Given the description of an element on the screen output the (x, y) to click on. 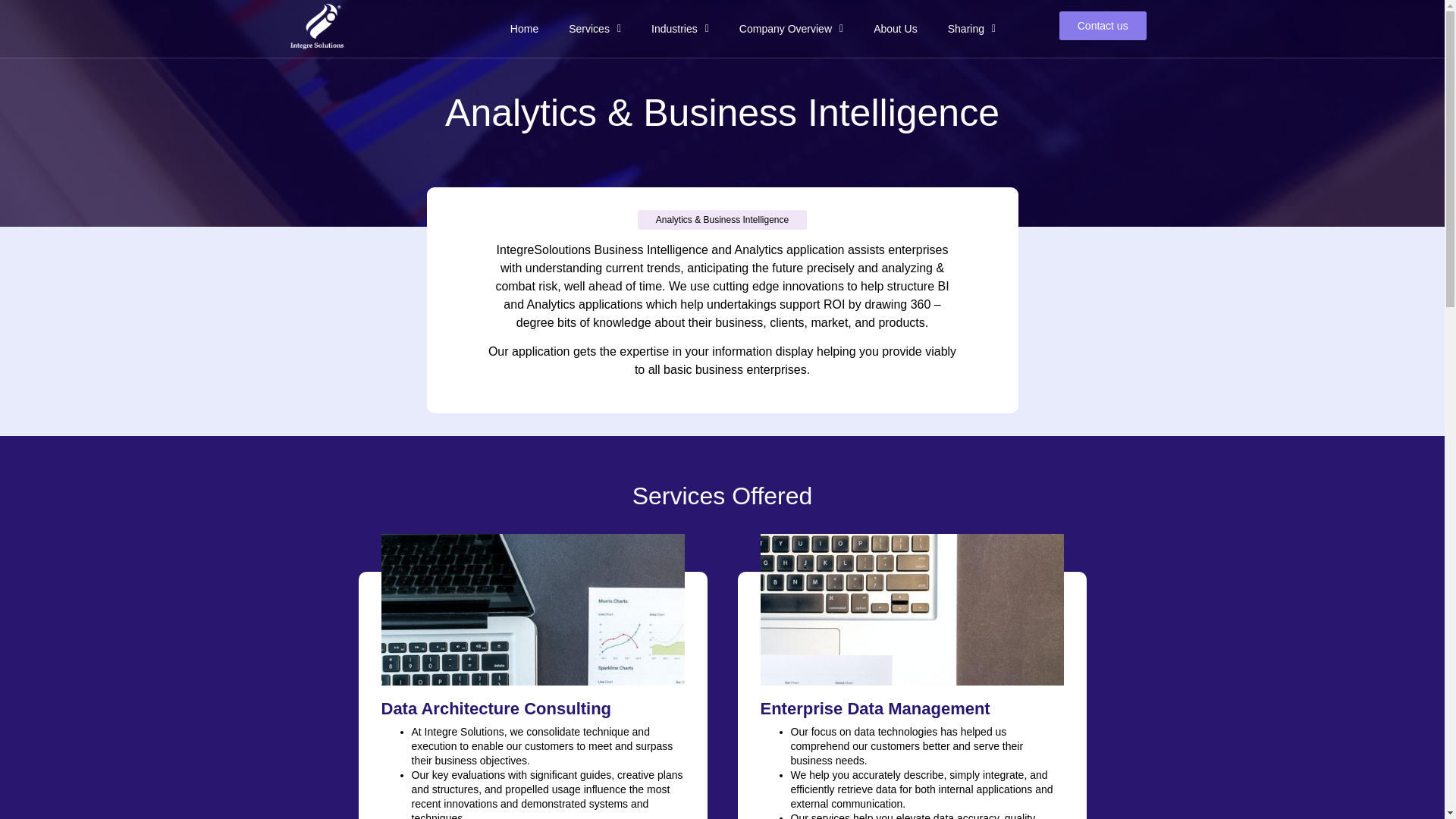
Company Overview (791, 28)
Sharing (971, 28)
Industries (679, 28)
Home (524, 28)
Services (594, 28)
About Us (896, 28)
